Given the description of an element on the screen output the (x, y) to click on. 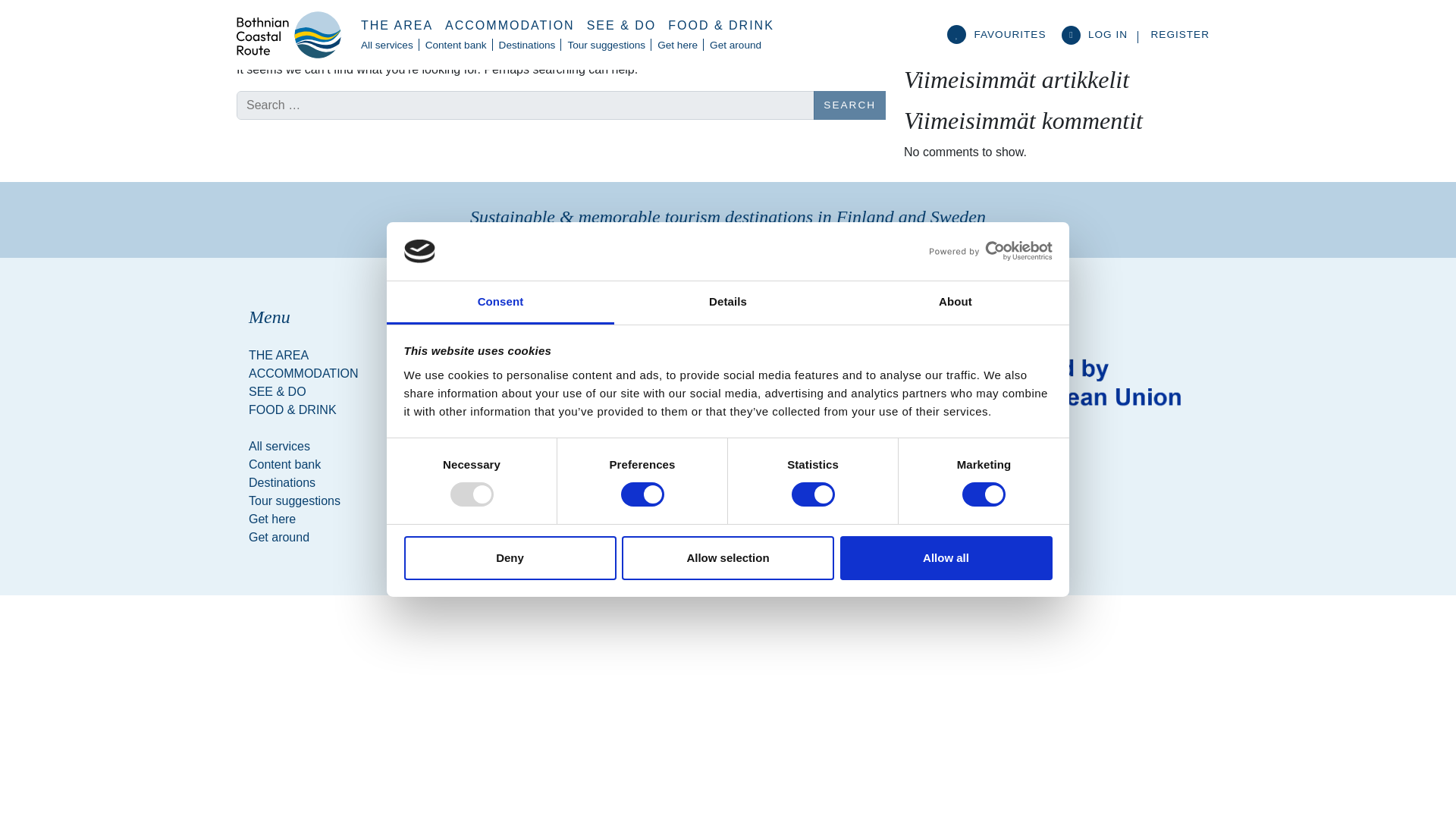
Tour suggestions (605, 45)
Accommodation (320, 373)
Deny (509, 557)
All services (387, 45)
Content bank (456, 45)
THE AREA (397, 25)
Accommodation (509, 25)
Allow all (946, 557)
Destinations (527, 45)
The Area (397, 25)
Search (849, 104)
Get here (676, 45)
The Area (320, 355)
About (954, 302)
Details (727, 302)
